Given the description of an element on the screen output the (x, y) to click on. 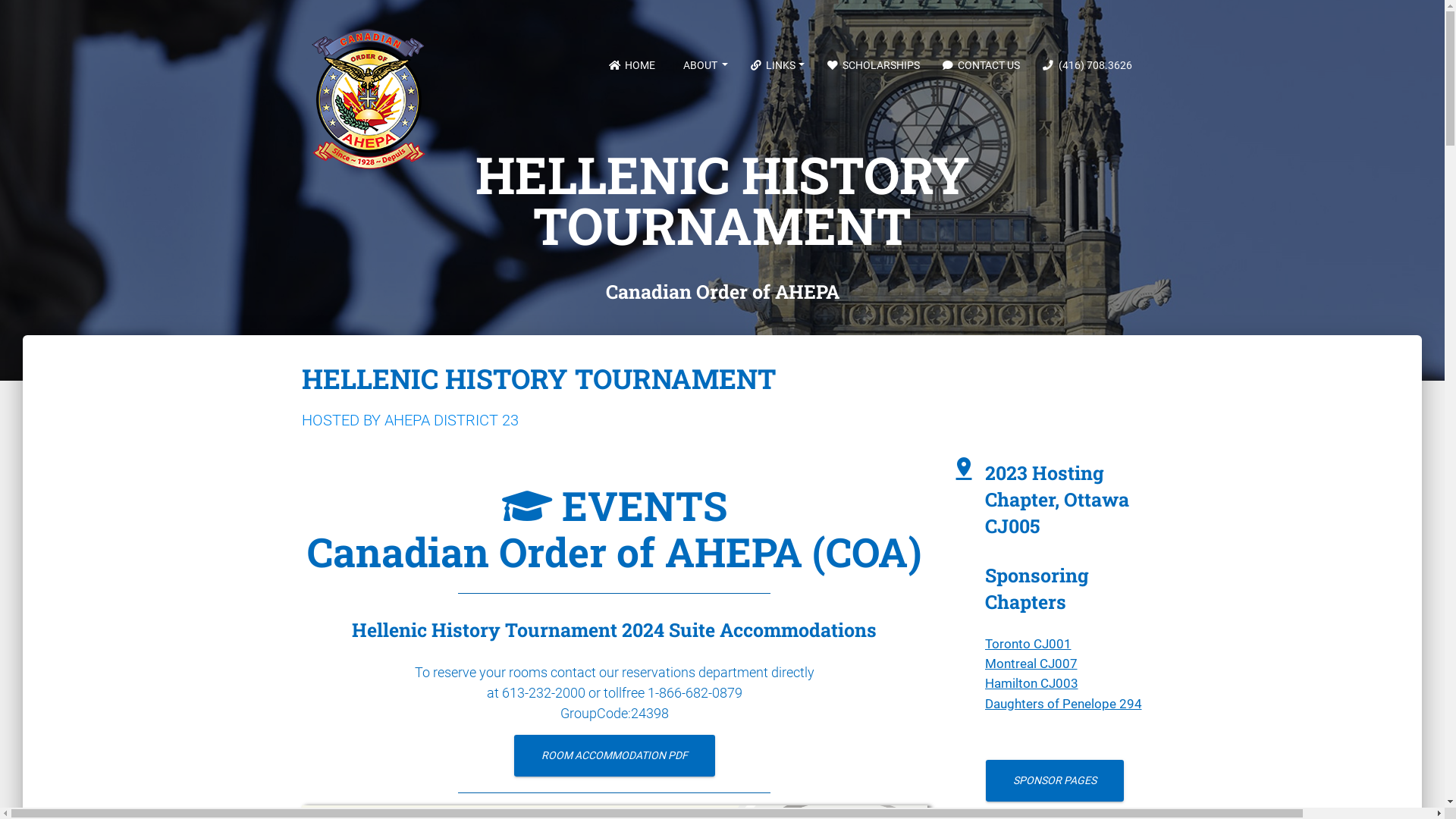
Hamilton CJ003 Element type: text (1030, 682)
CONTACT US Element type: text (981, 65)
SPONSOR PAGES Element type: text (1054, 780)
Montreal CJ007 Element type: text (1030, 663)
Daughters of Penelope 294 Element type: text (1062, 703)
HOME Element type: text (631, 65)
(416) 708.3626 Element type: text (1086, 65)
Toronto CJ001 Element type: text (1027, 643)
ROOM ACCOMMODATION PDF Element type: text (614, 755)
ABOUT Element type: text (702, 65)
LINKS Element type: text (777, 65)
SCHOLARSHIPS Element type: text (873, 65)
